Given the description of an element on the screen output the (x, y) to click on. 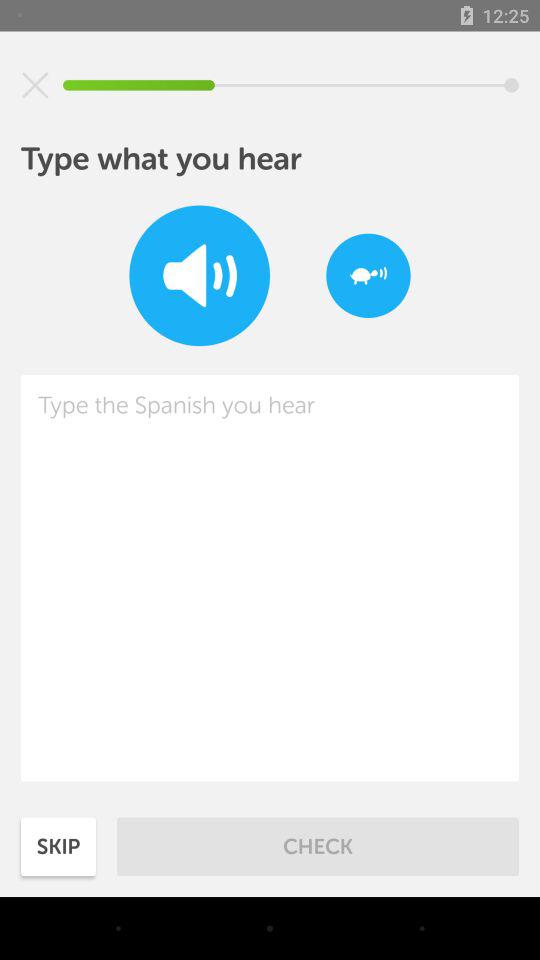
press the icon next to check (58, 846)
